Given the description of an element on the screen output the (x, y) to click on. 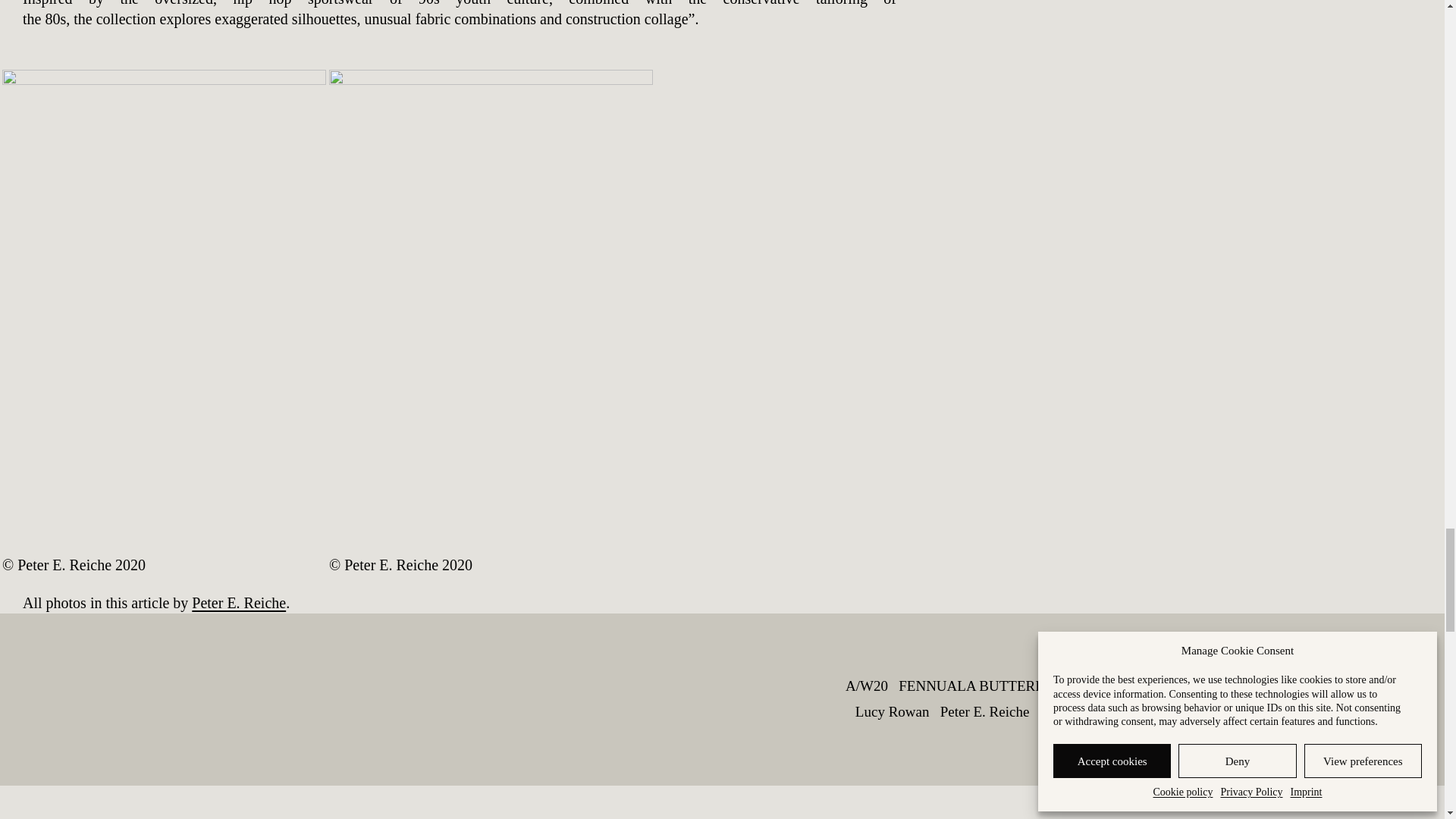
Peter E. Reiche (238, 602)
